Given the description of an element on the screen output the (x, y) to click on. 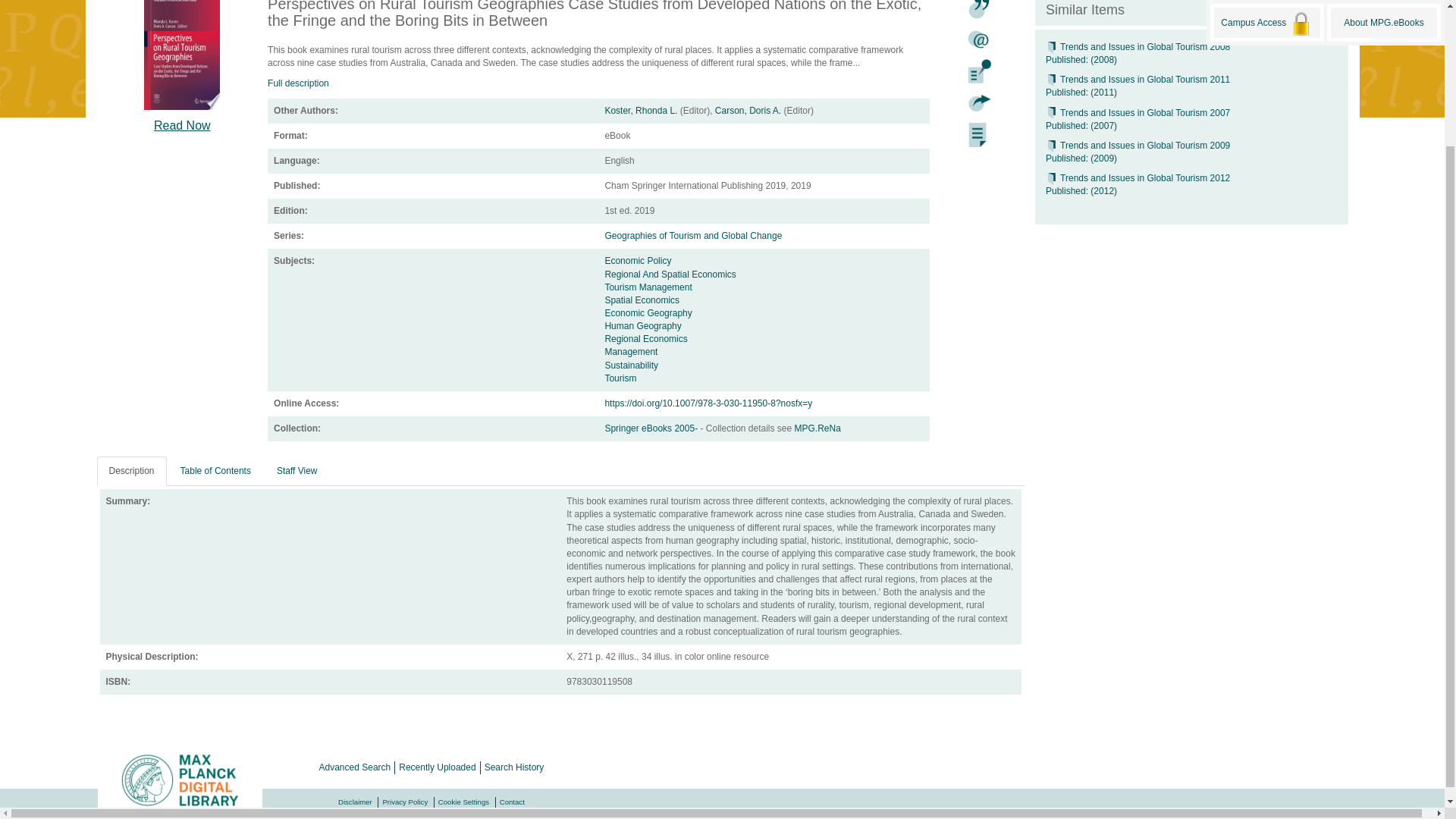
Management (631, 351)
Regional Economics (645, 338)
Geographies of Tourism and Global Change (692, 235)
Economic Geography (647, 312)
Springer eBooks 2005- (652, 428)
Full description (298, 82)
MPG.ReNa (817, 428)
Human Geography (642, 326)
Sustainability (631, 365)
Regional Economics (645, 338)
Regional And Spatial Economics (669, 274)
Economic Policy (637, 260)
Economic Policy (637, 260)
Management (631, 351)
Human Geography (642, 326)
